Given the description of an element on the screen output the (x, y) to click on. 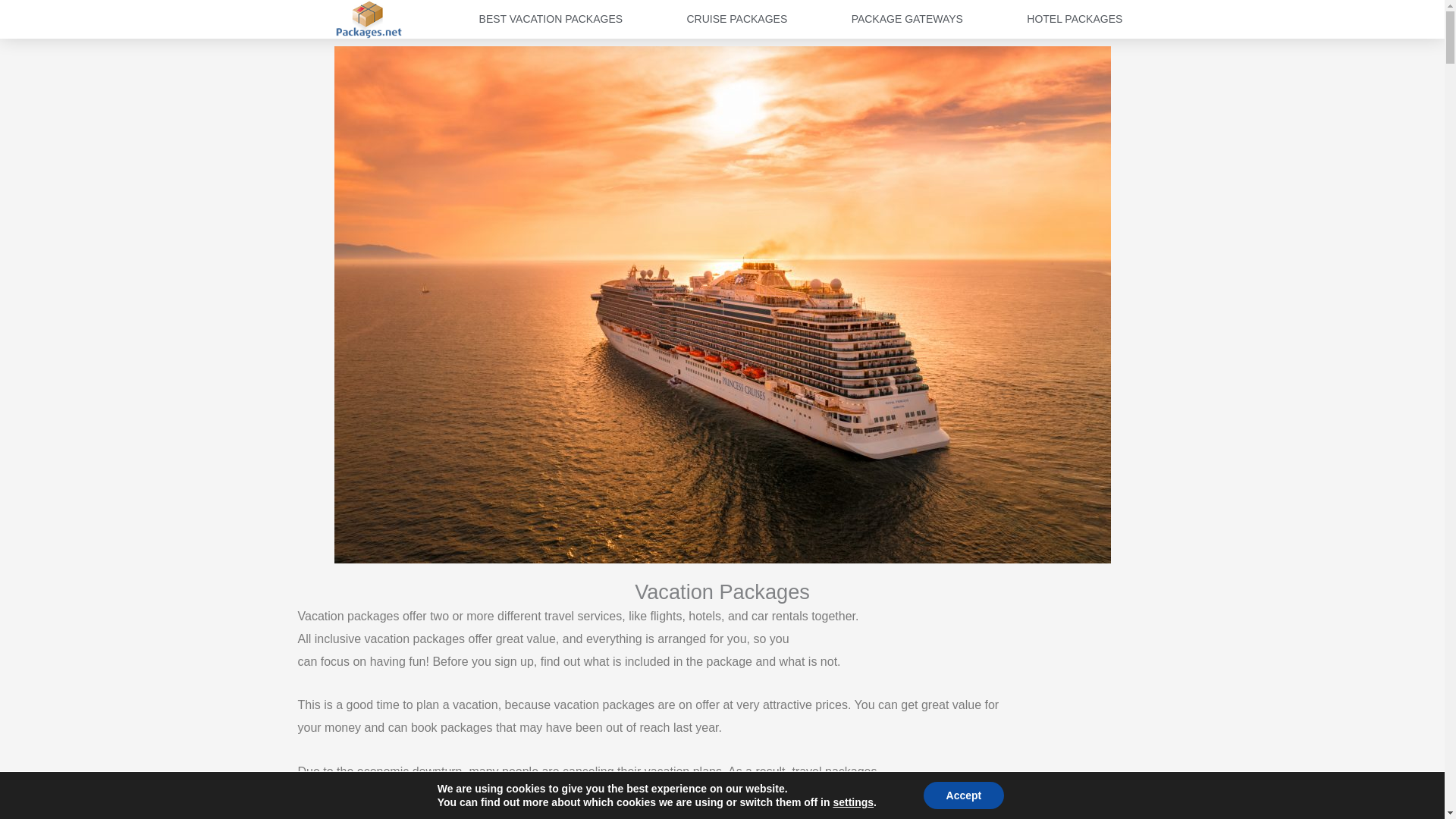
CRUISE PACKAGES (735, 18)
HOTEL PACKAGES (1074, 18)
BEST VACATION PACKAGES (549, 18)
PACKAGE GATEWAYS (906, 18)
